Given the description of an element on the screen output the (x, y) to click on. 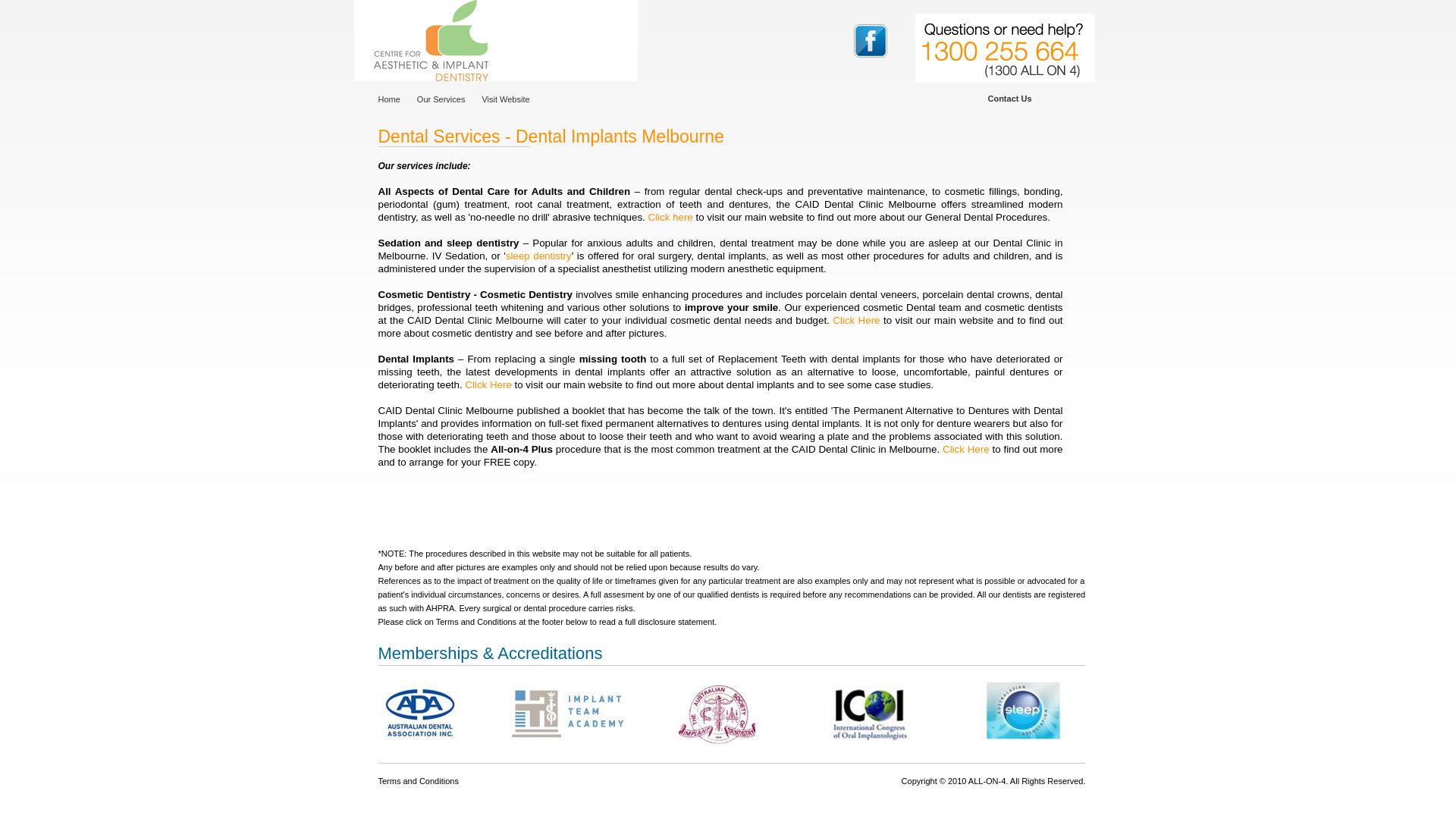
Click Here Element type: text (487, 384)
Click here Element type: text (670, 216)
Home Element type: text (396, 99)
Visit Website Element type: text (513, 99)
Dr Alex Fibishenko - All on Four Dental Implants Element type: hover (495, 40)
Our Services Element type: text (449, 99)
Click Here Element type: text (965, 449)
Click Here Element type: text (855, 320)
Contact Us Element type: text (1009, 98)
Terms and Conditions Element type: text (417, 780)
sleep dentistry Element type: text (538, 255)
